Given the description of an element on the screen output the (x, y) to click on. 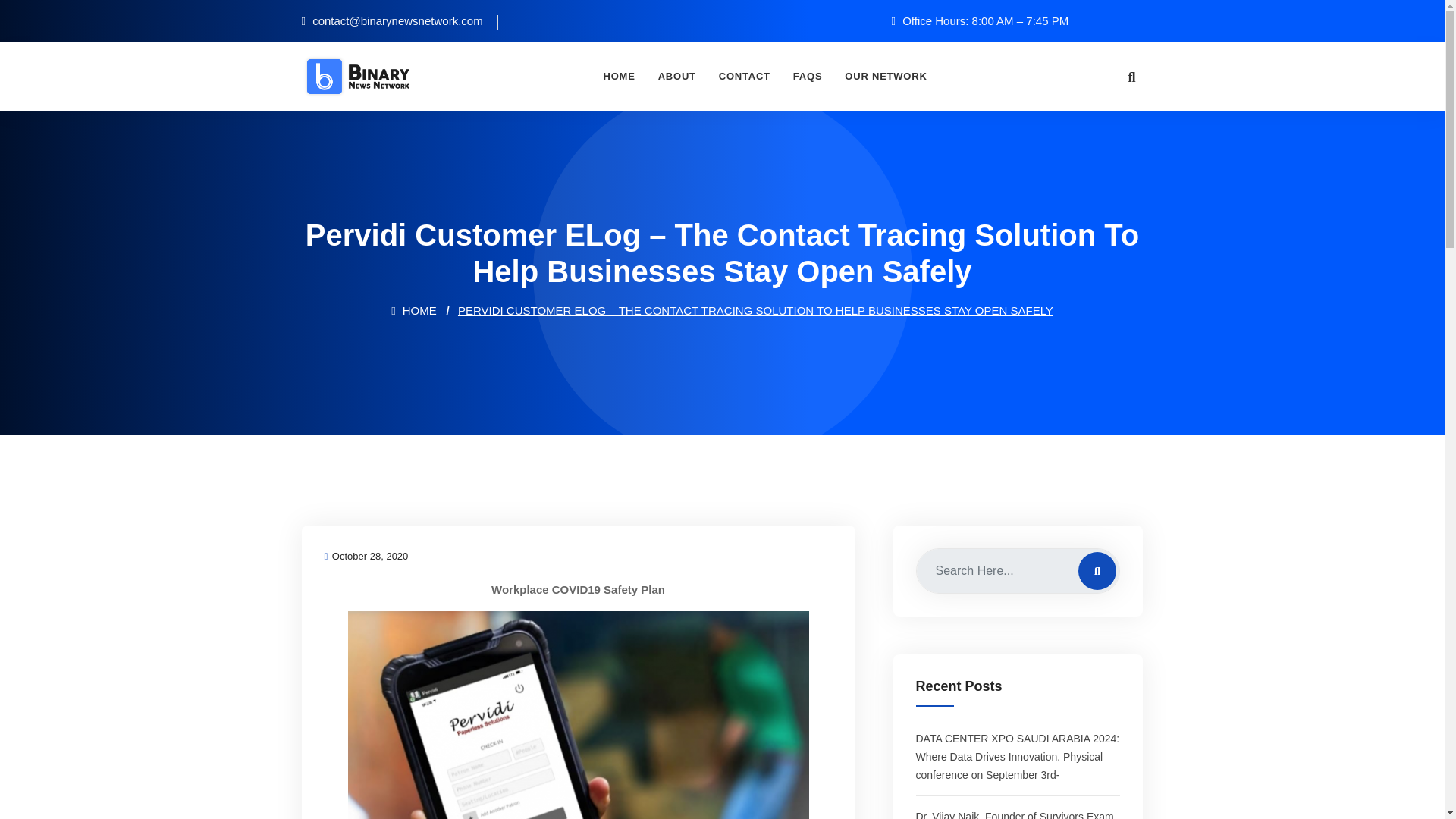
Contact (744, 76)
OUR NETWORK (884, 76)
FAQs (807, 76)
HOME (413, 309)
ABOUT (676, 76)
FAQS (807, 76)
CONTACT (744, 76)
Our Network (884, 76)
About (676, 76)
HOME (619, 76)
Home (619, 76)
